Given the description of an element on the screen output the (x, y) to click on. 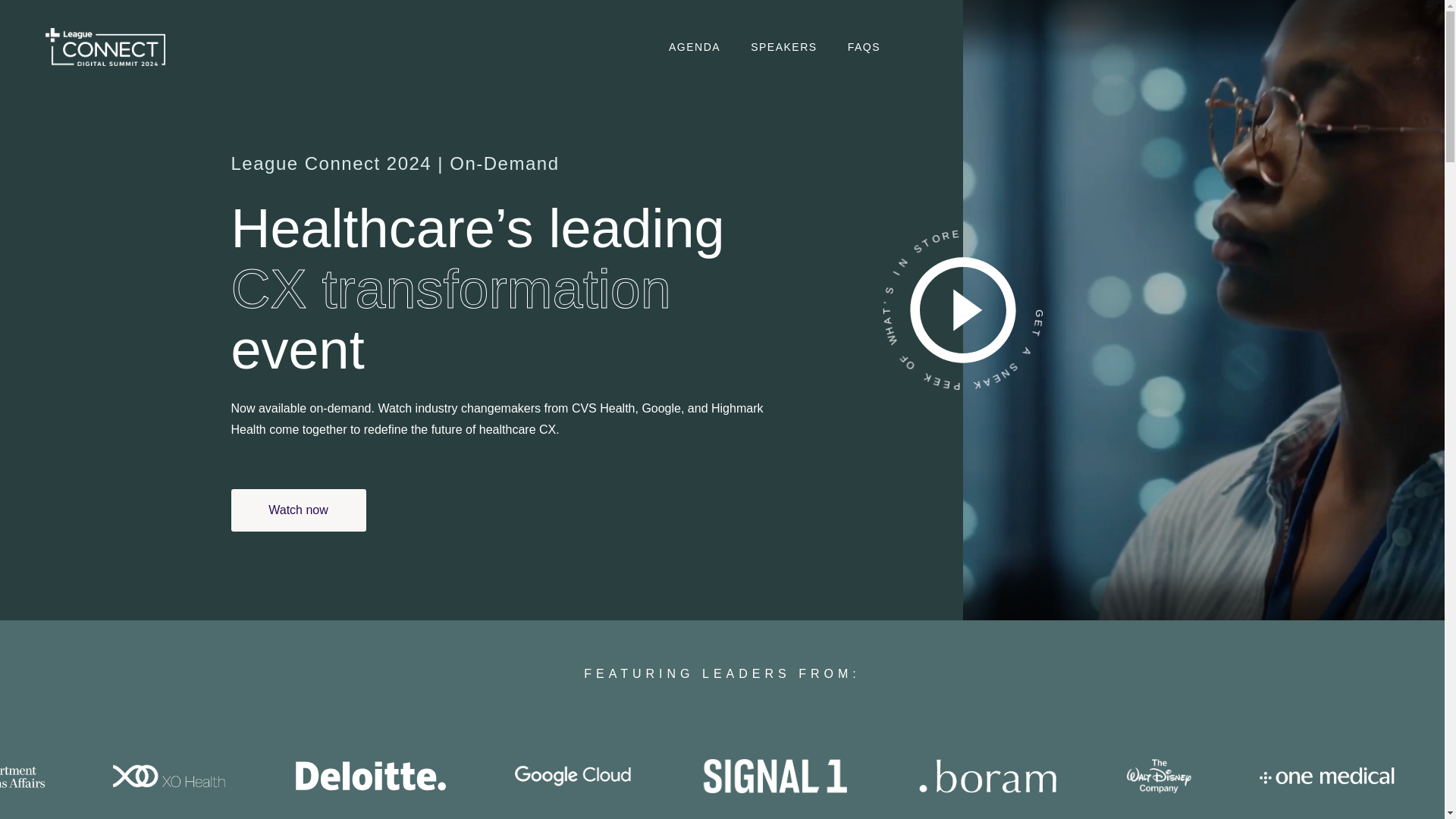
Watch now (297, 509)
AGENDA (694, 46)
SPEAKERS (783, 46)
